Given the description of an element on the screen output the (x, y) to click on. 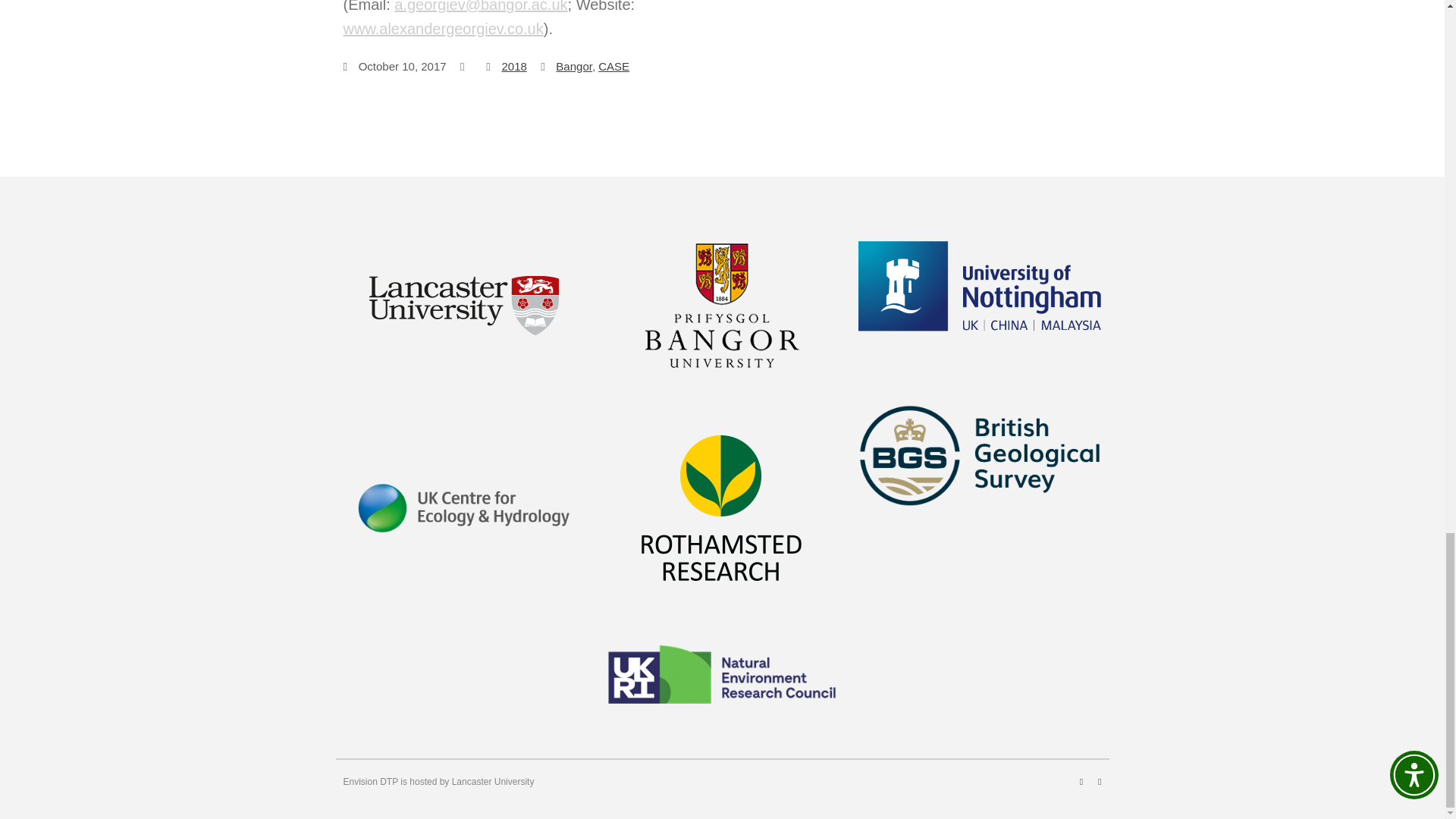
View all posts in 2018 (512, 65)
View all posts tagged Bangor (574, 65)
View all posts tagged CASE (613, 65)
